Given the description of an element on the screen output the (x, y) to click on. 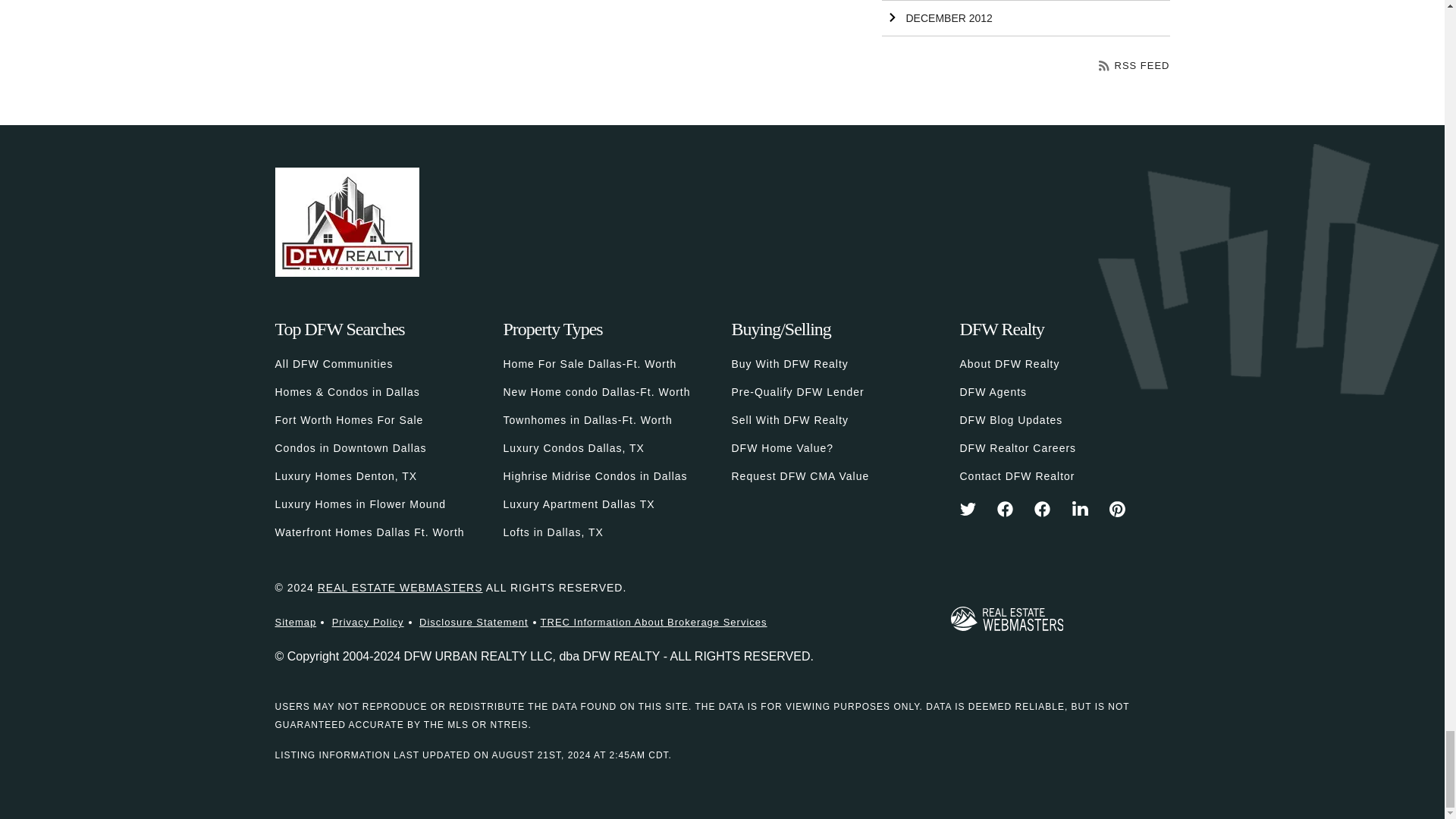
TREC Information About Brokerage Services (653, 622)
DFW Urban Realty Disclosure Statement (473, 622)
RSS FEED (1134, 65)
